Given the description of an element on the screen output the (x, y) to click on. 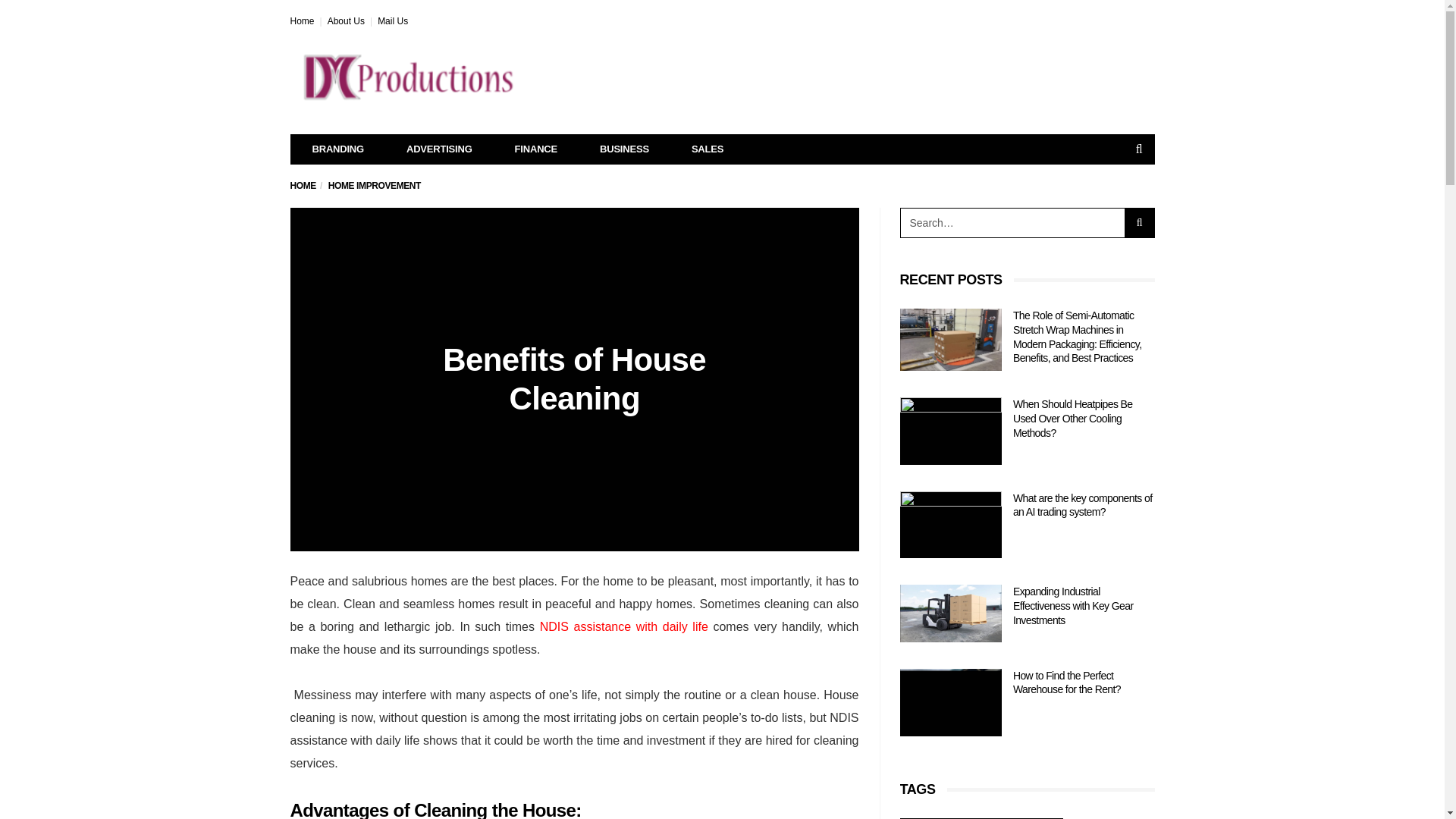
How to Find the Perfect Warehouse for the Rent? (1067, 682)
What are the key components of an AI trading system? (1083, 505)
BRANDING (338, 149)
How to Find the Perfect Warehouse for the Rent? (950, 702)
BUSINESS (623, 149)
About Us (346, 20)
NDIS assistance with daily life (623, 626)
Expanding Industrial Effectiveness with Key Gear Investments (1073, 605)
ADVERTISING (439, 149)
Mail Us (392, 20)
FINANCE (535, 149)
When Should Heatpipes Be Used Over Other Cooling Methods? (1072, 418)
What are the key components of an AI trading system? (950, 524)
